Given the description of an element on the screen output the (x, y) to click on. 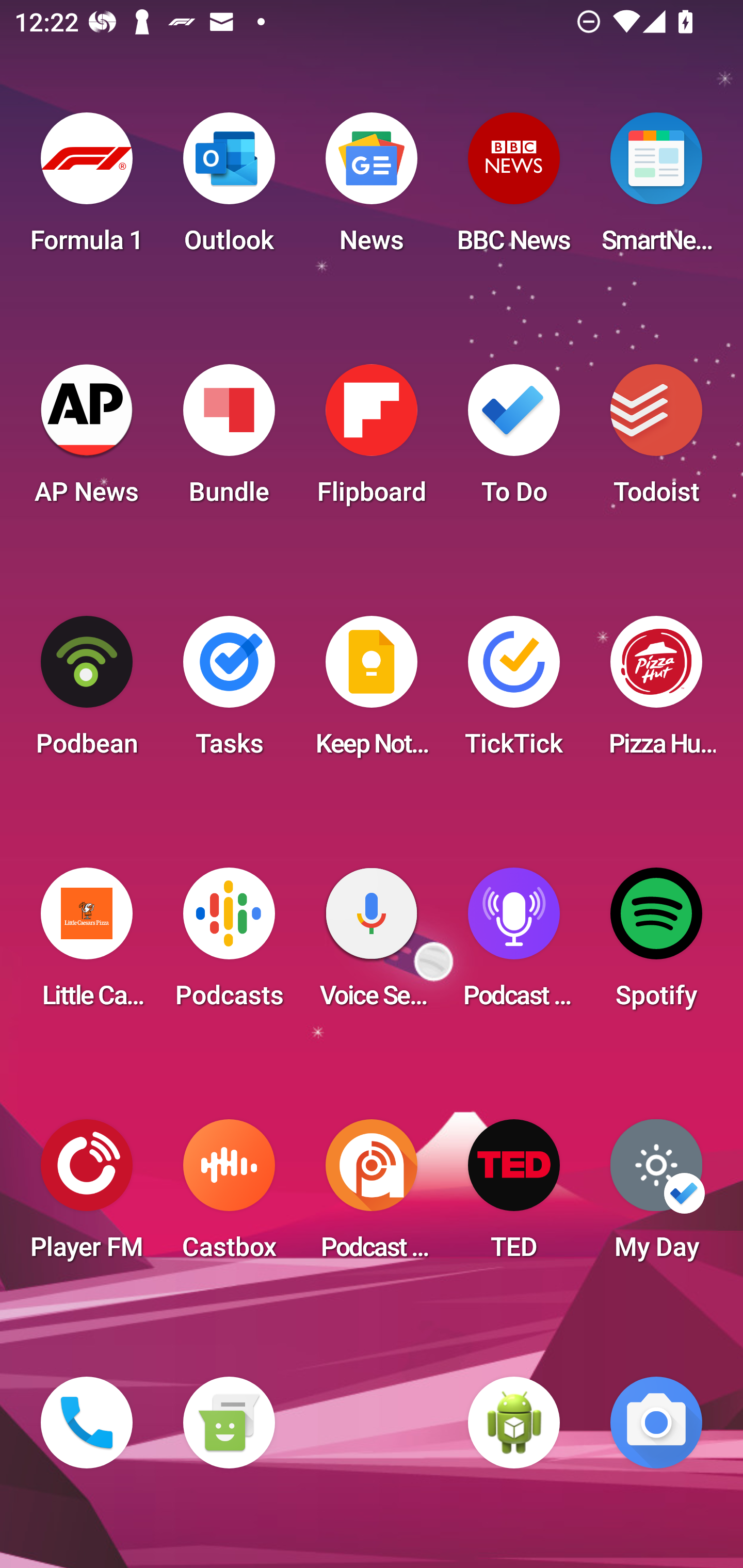
Formula 1 (86, 188)
Outlook (228, 188)
News (371, 188)
BBC News (513, 188)
SmartNews (656, 188)
AP News (86, 440)
Bundle (228, 440)
Flipboard (371, 440)
To Do (513, 440)
Todoist (656, 440)
Podbean (86, 692)
Tasks (228, 692)
Keep Notes (371, 692)
TickTick (513, 692)
Pizza Hut HK & Macau (656, 692)
Little Caesars Pizza (86, 943)
Podcasts (228, 943)
Voice Search (371, 943)
Podcast Player (513, 943)
Spotify (656, 943)
Player FM (86, 1195)
Castbox (228, 1195)
Podcast Addict (371, 1195)
TED (513, 1195)
My Day (656, 1195)
Phone (86, 1422)
Messaging (228, 1422)
WebView Browser Tester (513, 1422)
Camera (656, 1422)
